Given the description of an element on the screen output the (x, y) to click on. 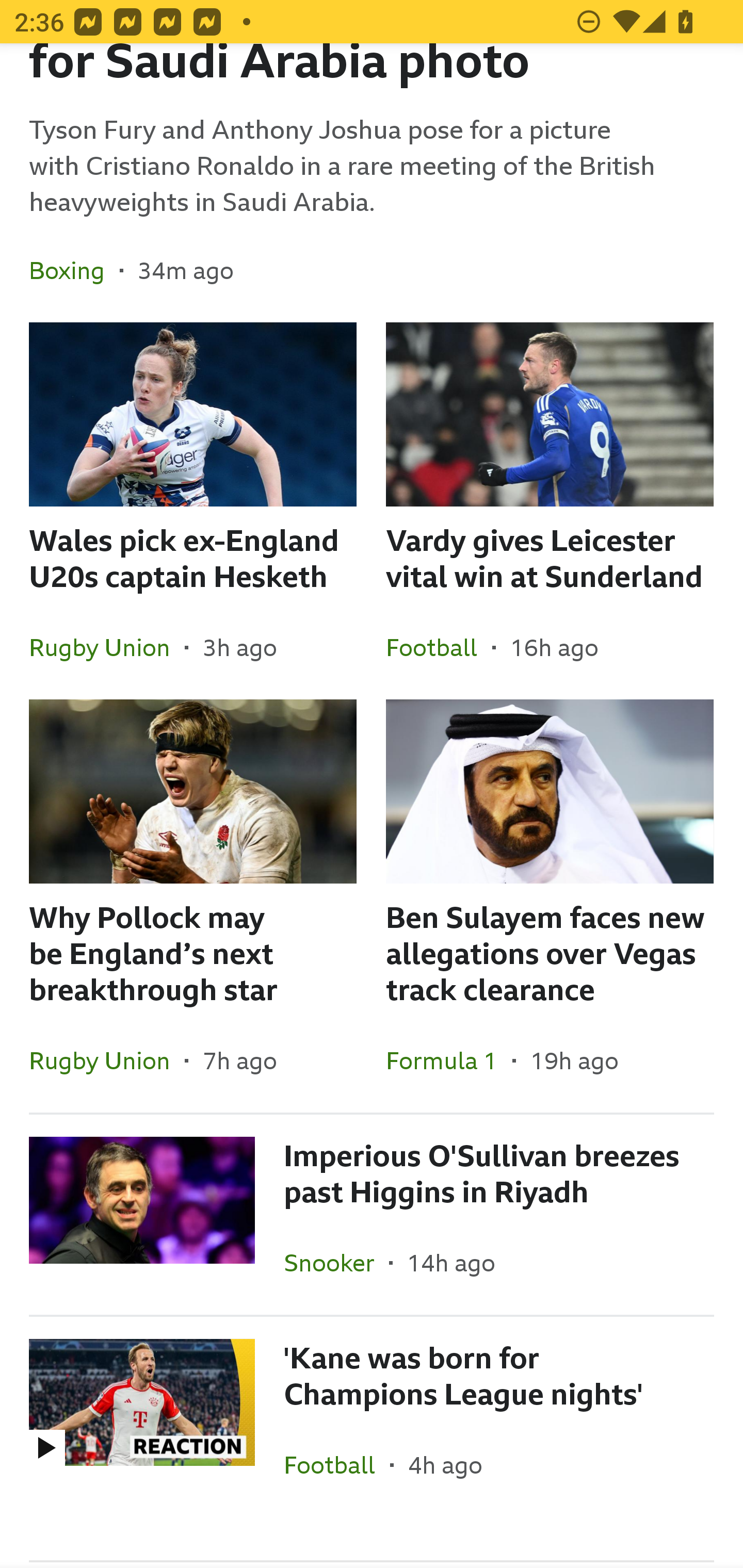
Boxing In the section Boxing (73, 270)
Rugby Union In the section Rugby Union (106, 647)
Football In the section Football (438, 647)
Rugby Union In the section Rugby Union (106, 1060)
Formula 1 In the section Formula 1 (448, 1060)
Snooker In the section Snooker (336, 1261)
Football In the section Football (336, 1464)
